Given the description of an element on the screen output the (x, y) to click on. 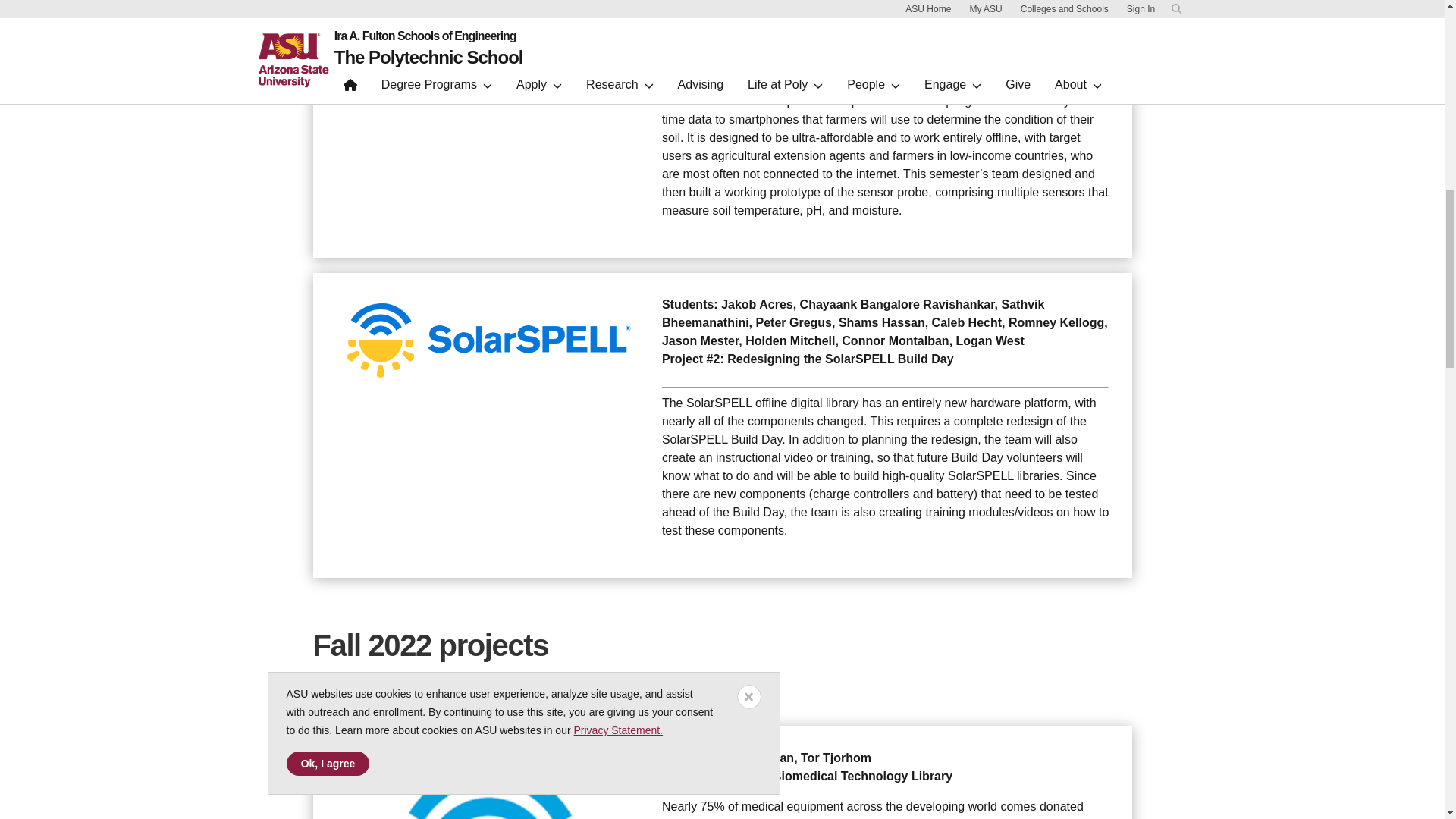
Wordmark-Bright-Blue SolarSPELL Laura Hosman (488, 38)
